Given the description of an element on the screen output the (x, y) to click on. 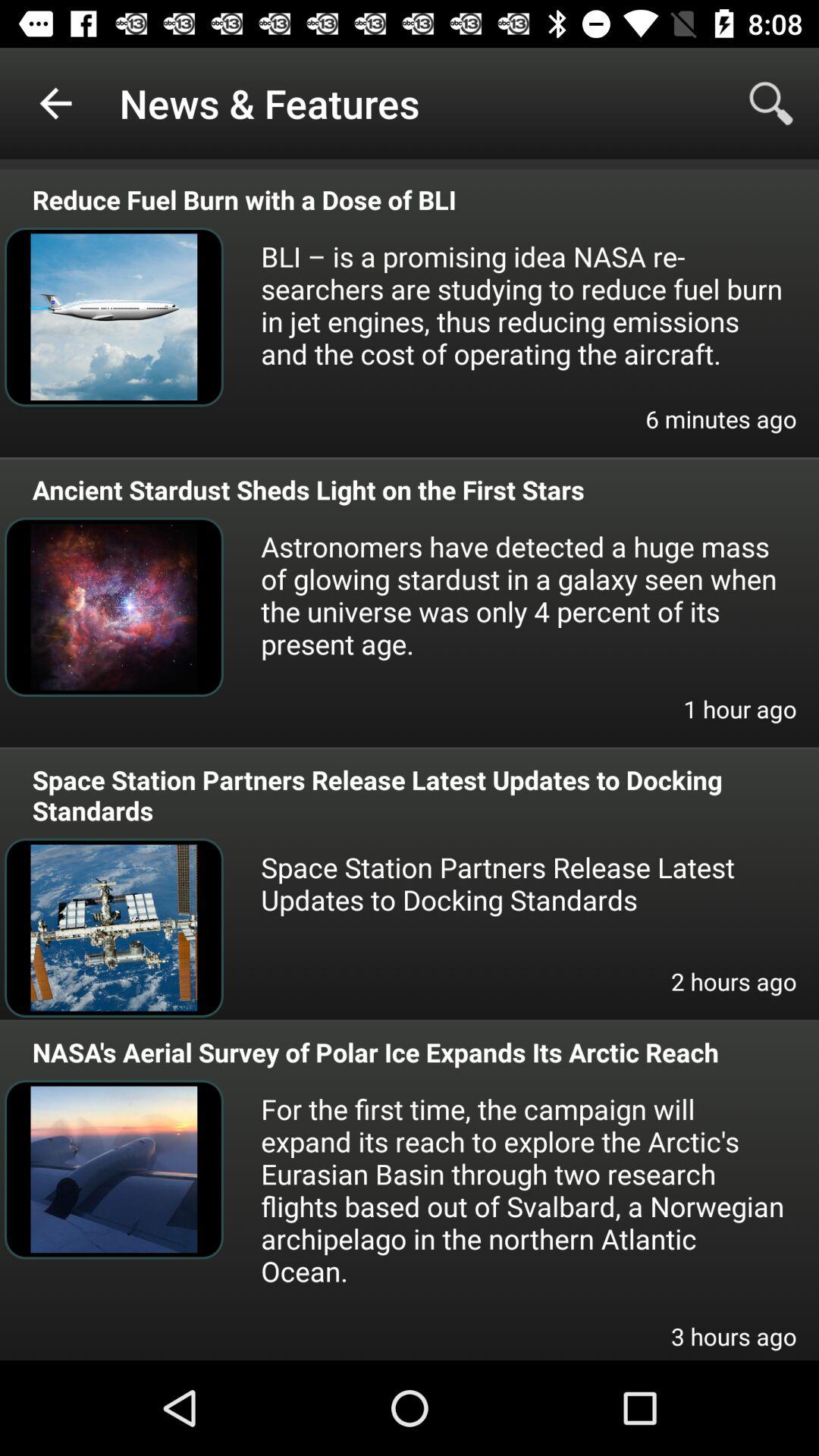
scroll to the 1 hour ago (739, 718)
